Given the description of an element on the screen output the (x, y) to click on. 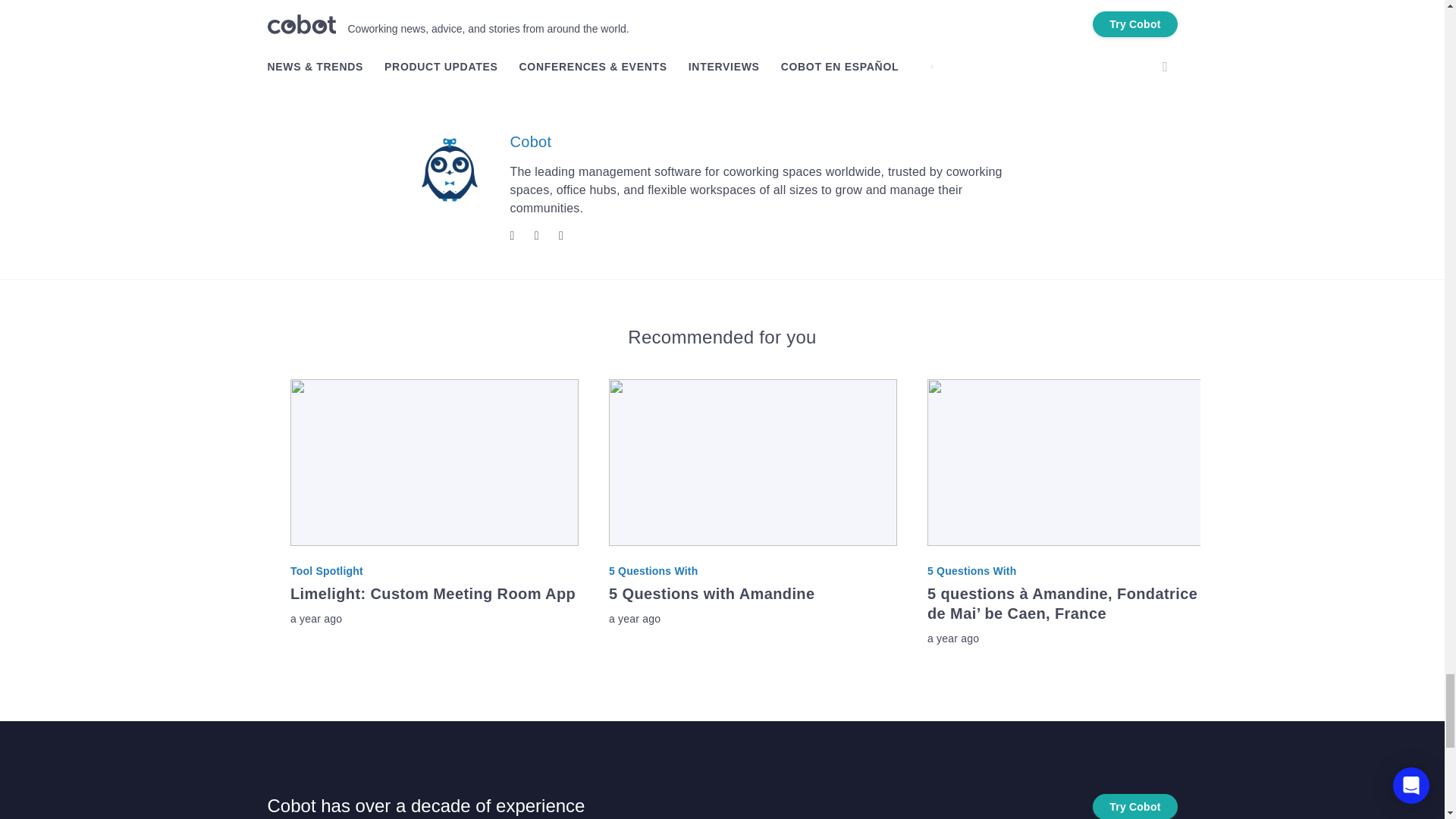
Cobot Replaces... (465, 24)
Cobot Replaces... (465, 24)
5 Questions with Amandine (433, 603)
Cobot (752, 593)
5 Questions With (530, 141)
Tool Spotlight (752, 570)
Limelight: Custom Meeting Room App (433, 570)
